Given the description of an element on the screen output the (x, y) to click on. 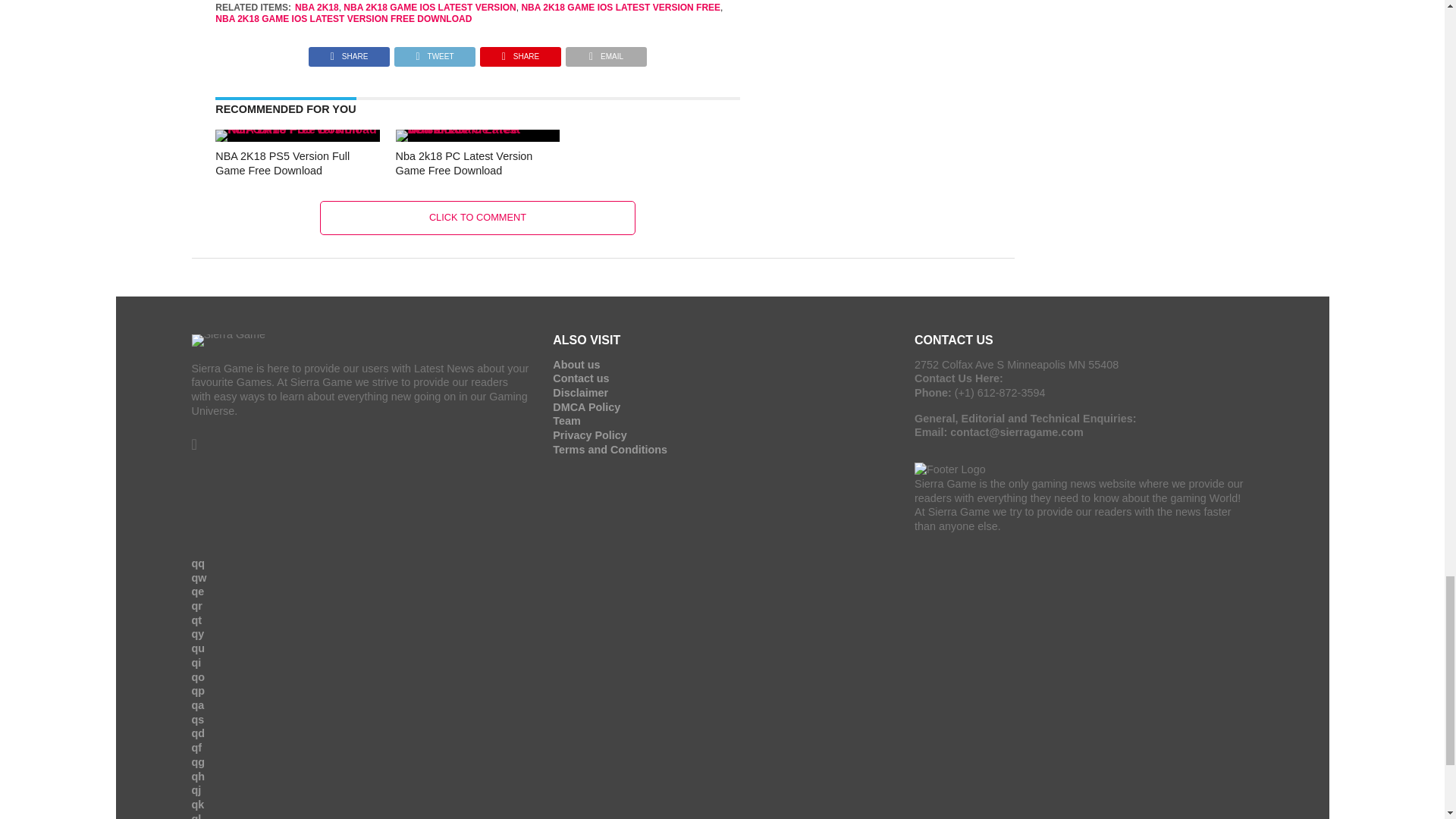
NBA 2K18 (317, 7)
NBA 2K18 GAME IOS LATEST VERSION FREE DOWNLOAD (343, 18)
SHARE (349, 51)
NBA 2K18 GAME IOS LATEST VERSION FREE (620, 7)
Share on Facebook (349, 51)
NBA 2K18 GAME IOS LATEST VERSION (429, 7)
